Given the description of an element on the screen output the (x, y) to click on. 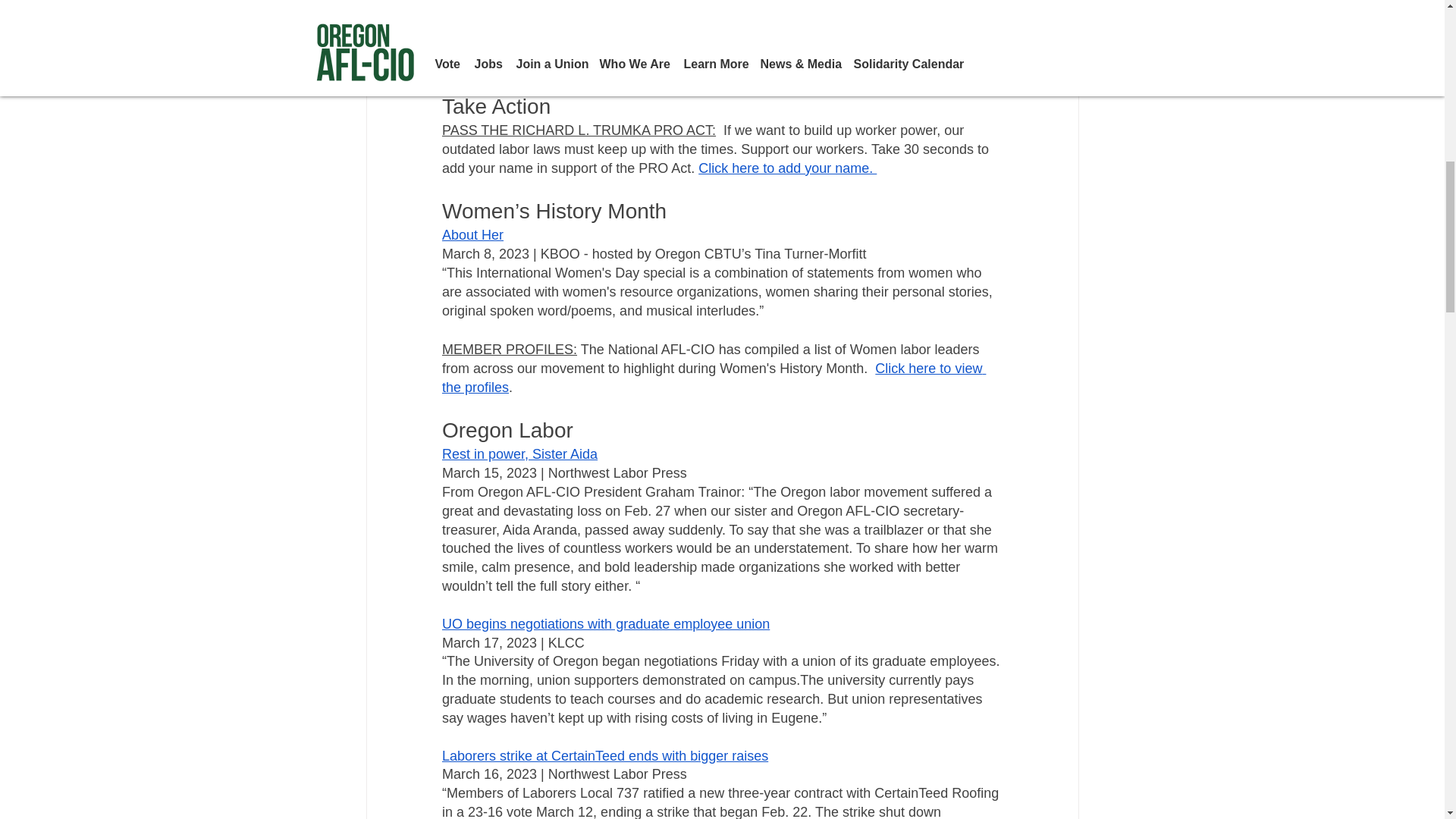
Click here to view the profiles (713, 377)
Rest in power, Sister Aida (518, 453)
Click here to add your name.  (787, 168)
About Her (471, 234)
Click here to register for this event. (717, 53)
